Given the description of an element on the screen output the (x, y) to click on. 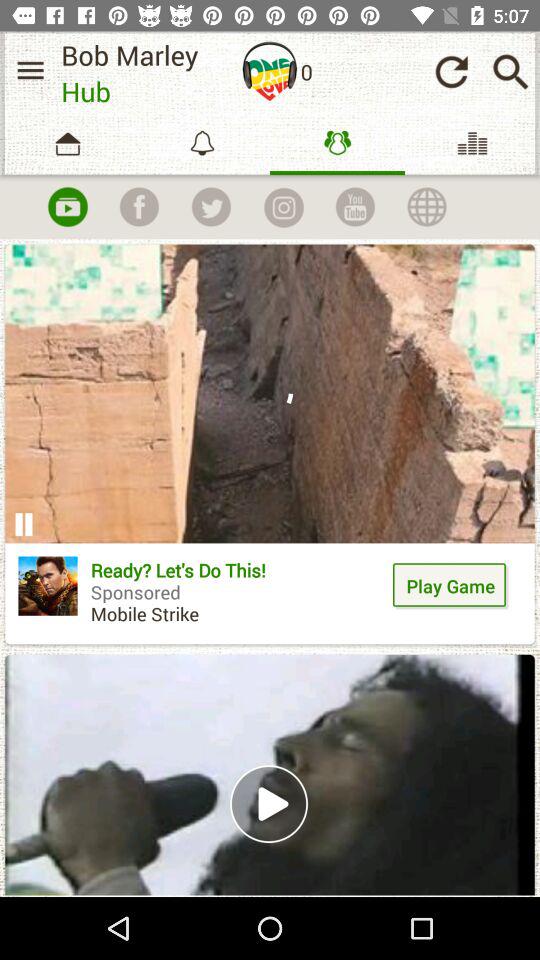
turn off the item to the left of 0 (269, 71)
